Given the description of an element on the screen output the (x, y) to click on. 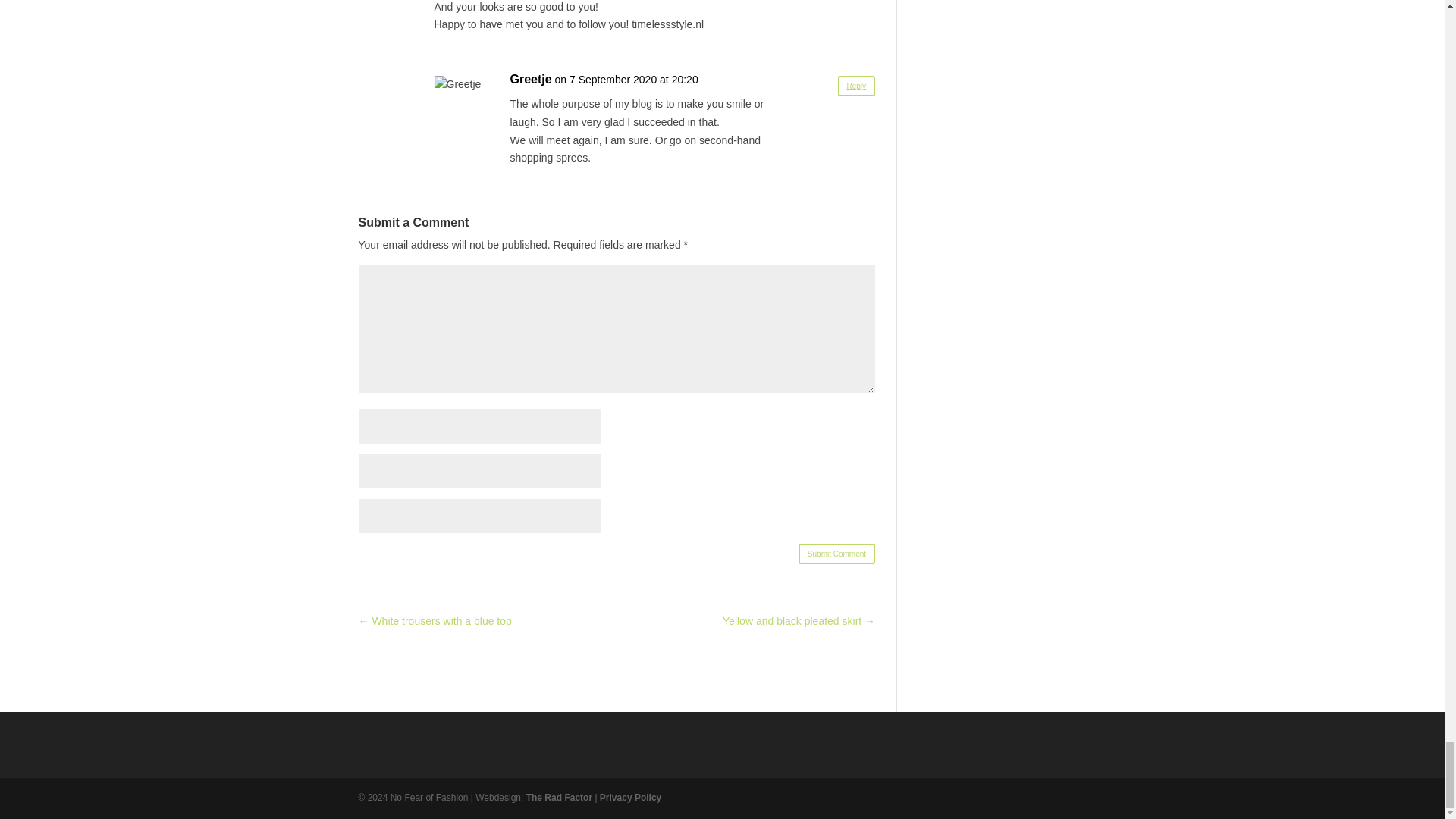
Submit Comment (836, 553)
